Given the description of an element on the screen output the (x, y) to click on. 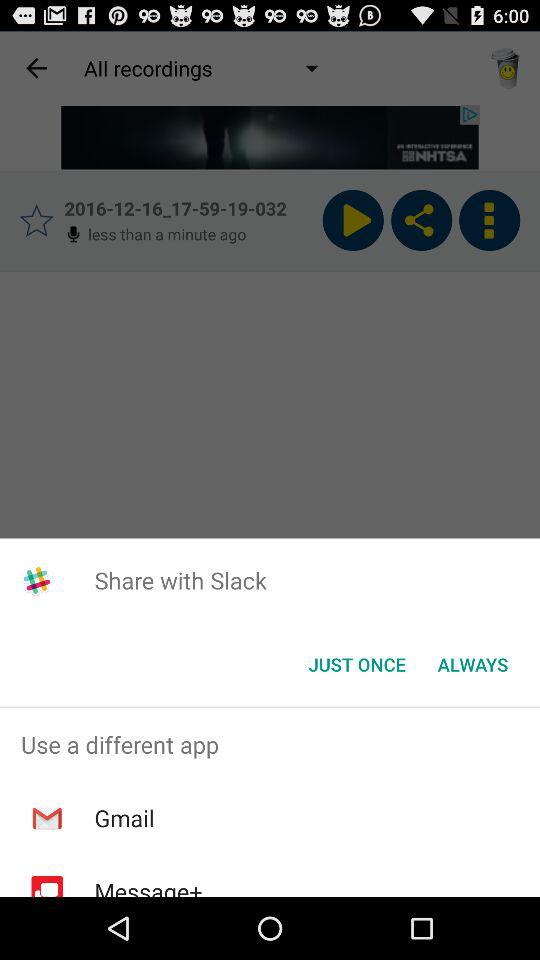
open the item above the gmail item (270, 744)
